Given the description of an element on the screen output the (x, y) to click on. 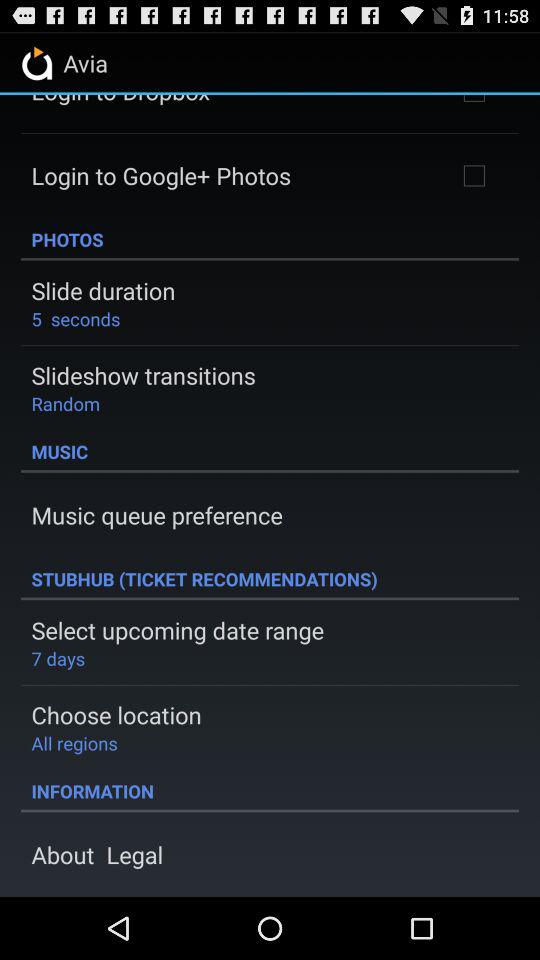
turn on the icon above all regions icon (116, 714)
